Given the description of an element on the screen output the (x, y) to click on. 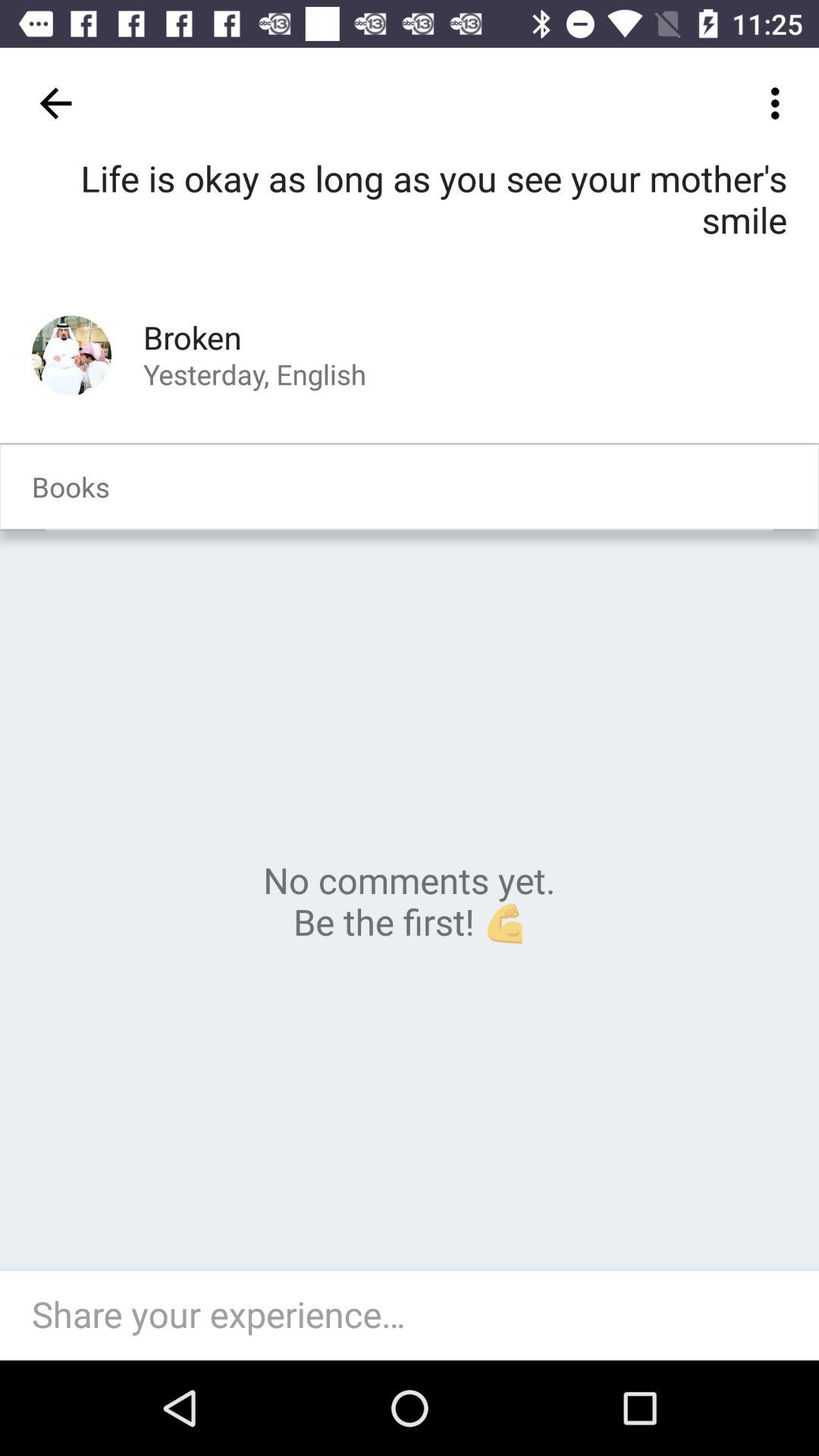
picture profile (71, 355)
